Given the description of an element on the screen output the (x, y) to click on. 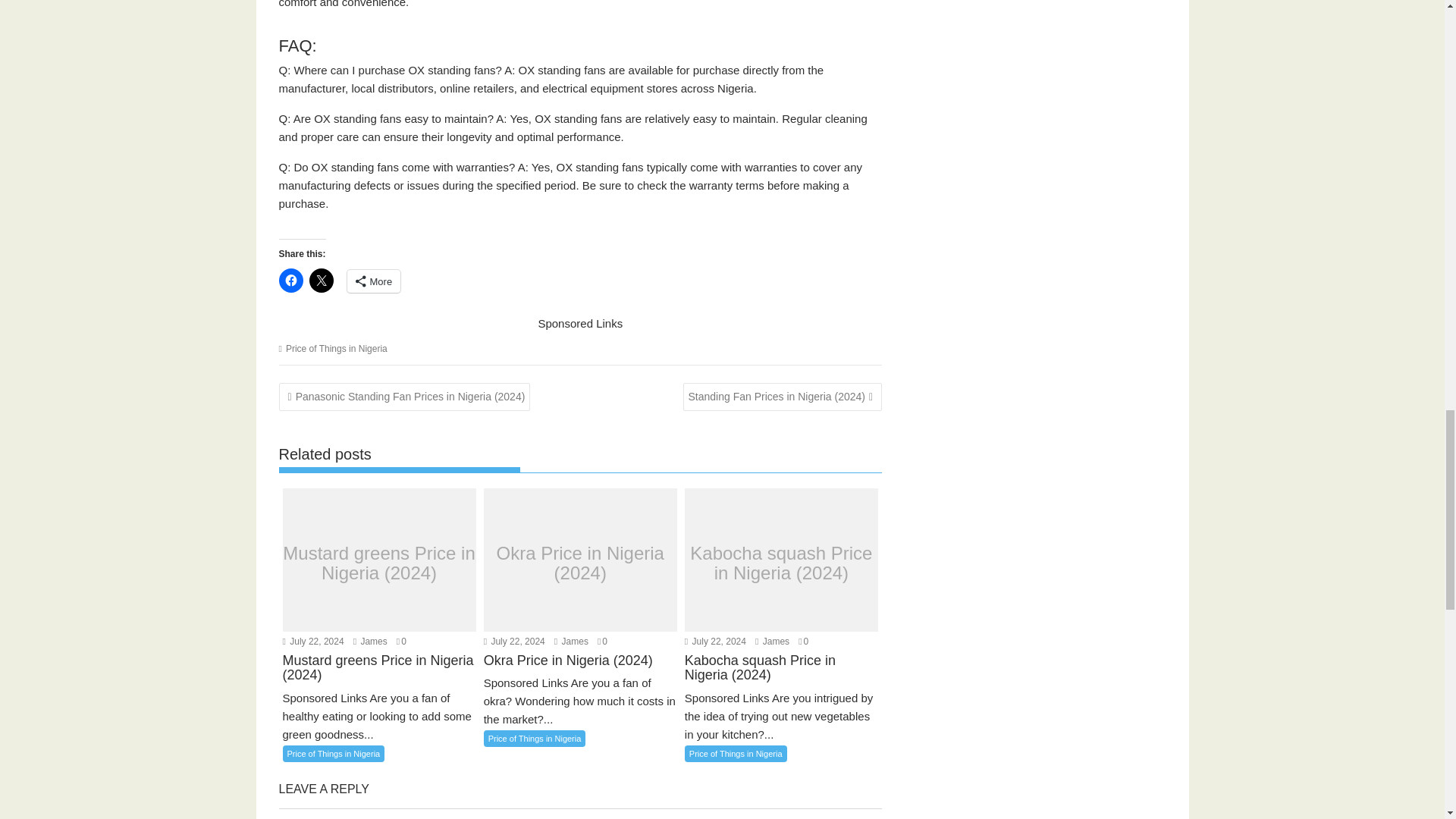
More (374, 281)
James (370, 641)
Price of Things in Nigeria (336, 348)
July 22, 2024 (312, 641)
Click to share on X (320, 280)
0 (401, 641)
Click to share on Facebook (290, 280)
